Given the description of an element on the screen output the (x, y) to click on. 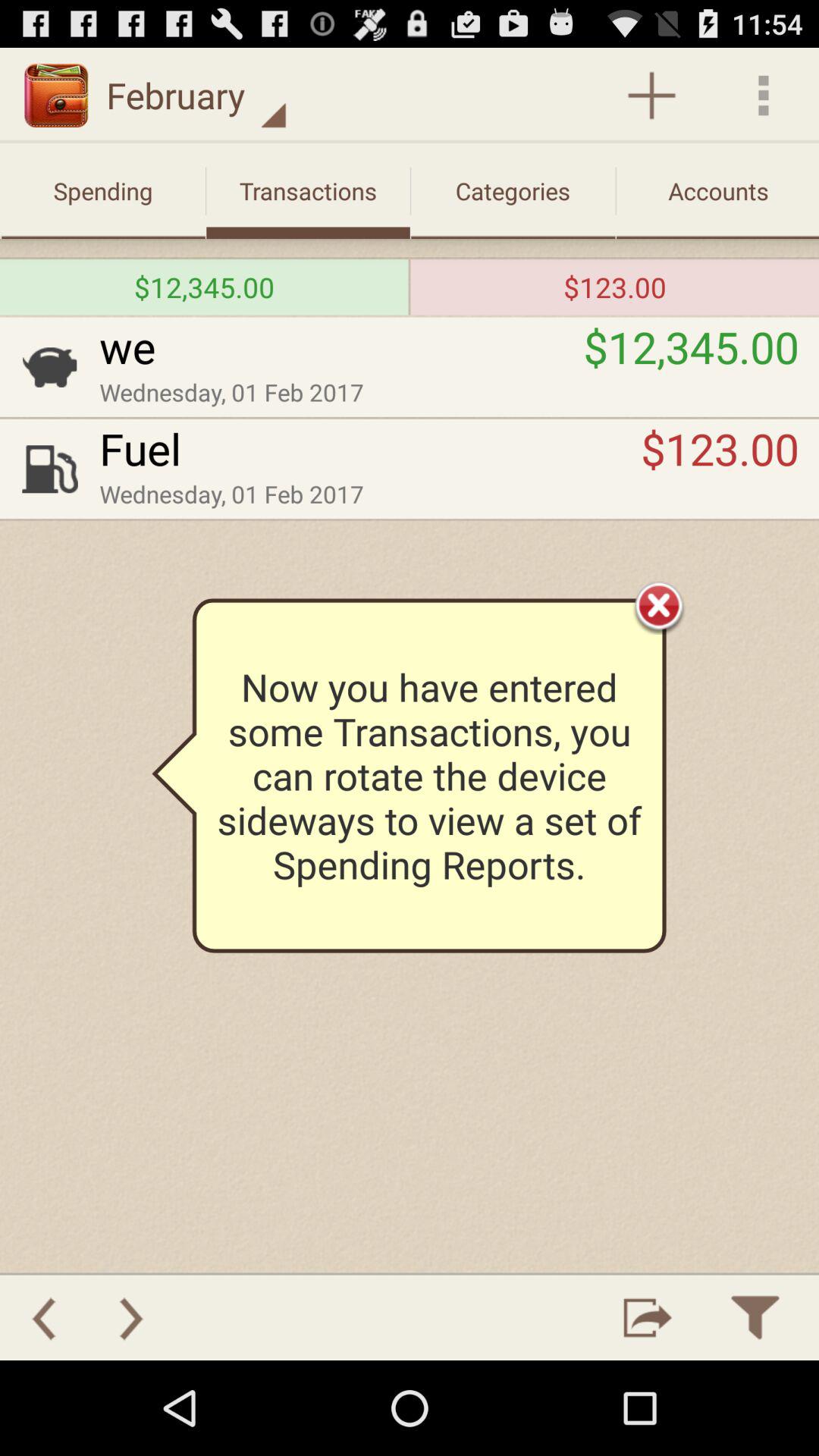
next menu (131, 1317)
